Given the description of an element on the screen output the (x, y) to click on. 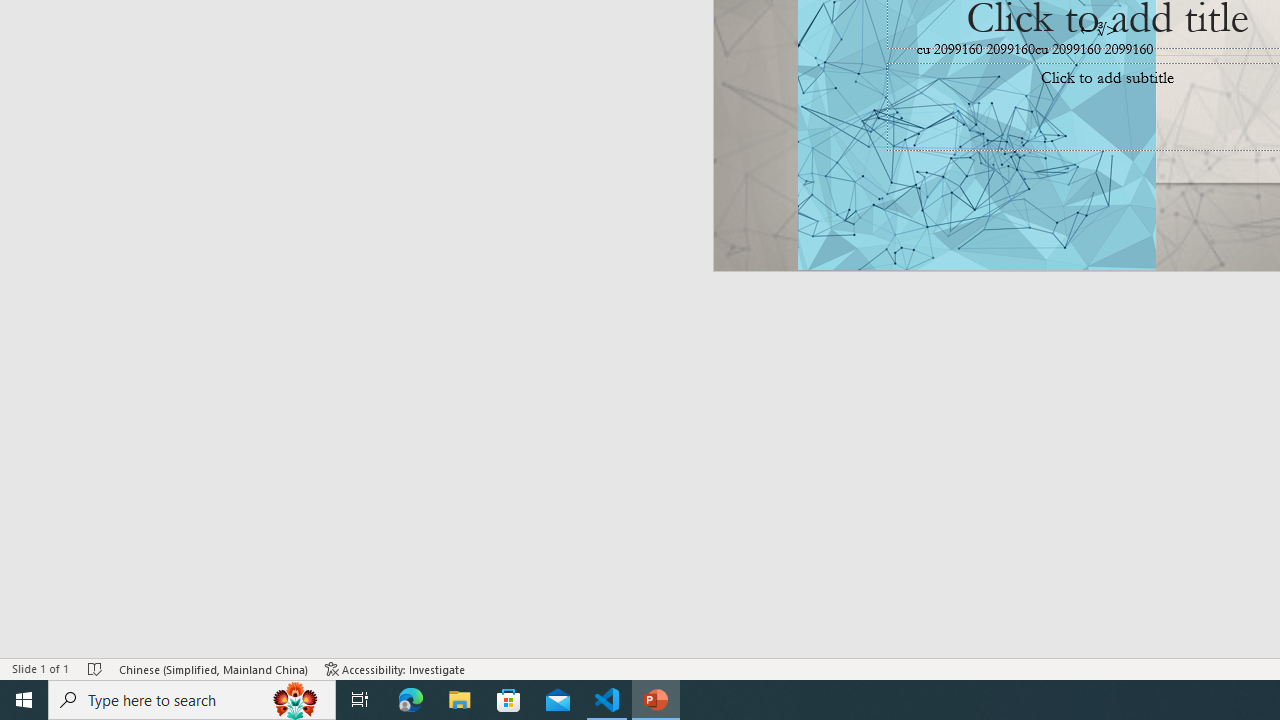
Timeline Section (331, 398)
Problems (Ctrl+Shift+M) (567, 218)
Manage (135, 571)
No Problems (212, 628)
Output (Ctrl+Shift+U) (696, 218)
